Given the description of an element on the screen output the (x, y) to click on. 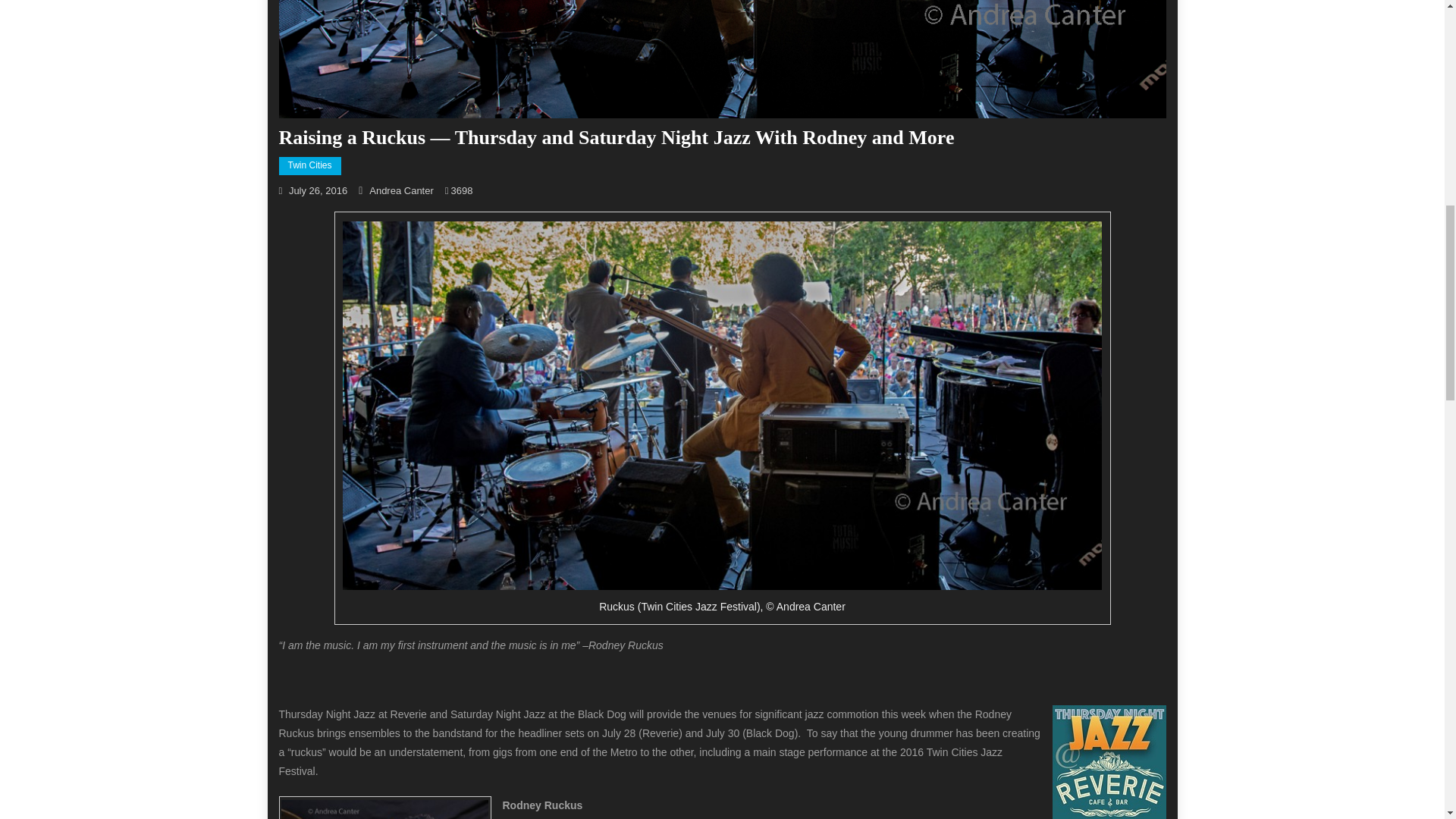
Twin Cities (309, 166)
July 26, 2016 (317, 190)
Andrea Canter (401, 190)
